Given the description of an element on the screen output the (x, y) to click on. 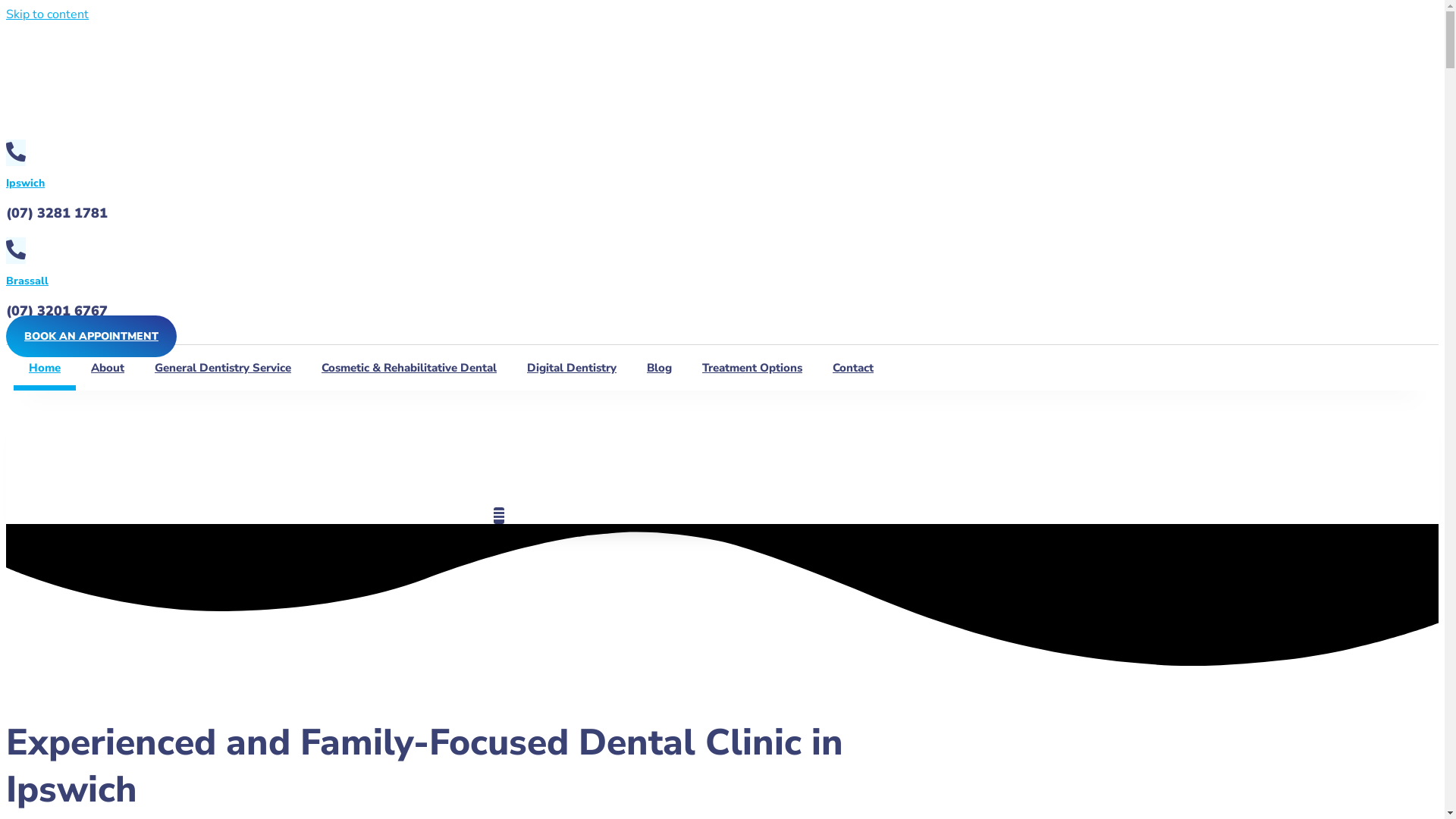
Contact Element type: text (852, 367)
Ipswich Element type: text (25, 182)
Digital Dentistry Element type: text (571, 367)
BOOK AN APPOINTMENT Element type: text (91, 336)
About Element type: text (107, 367)
Cosmetic & Rehabilitative Dental Element type: text (408, 367)
Blog Element type: text (659, 367)
Treatment Options Element type: text (752, 367)
General Dentistry Service Element type: text (222, 367)
Skip to content Element type: text (47, 14)
Brassall Element type: text (27, 280)
Home Element type: text (44, 367)
